Given the description of an element on the screen output the (x, y) to click on. 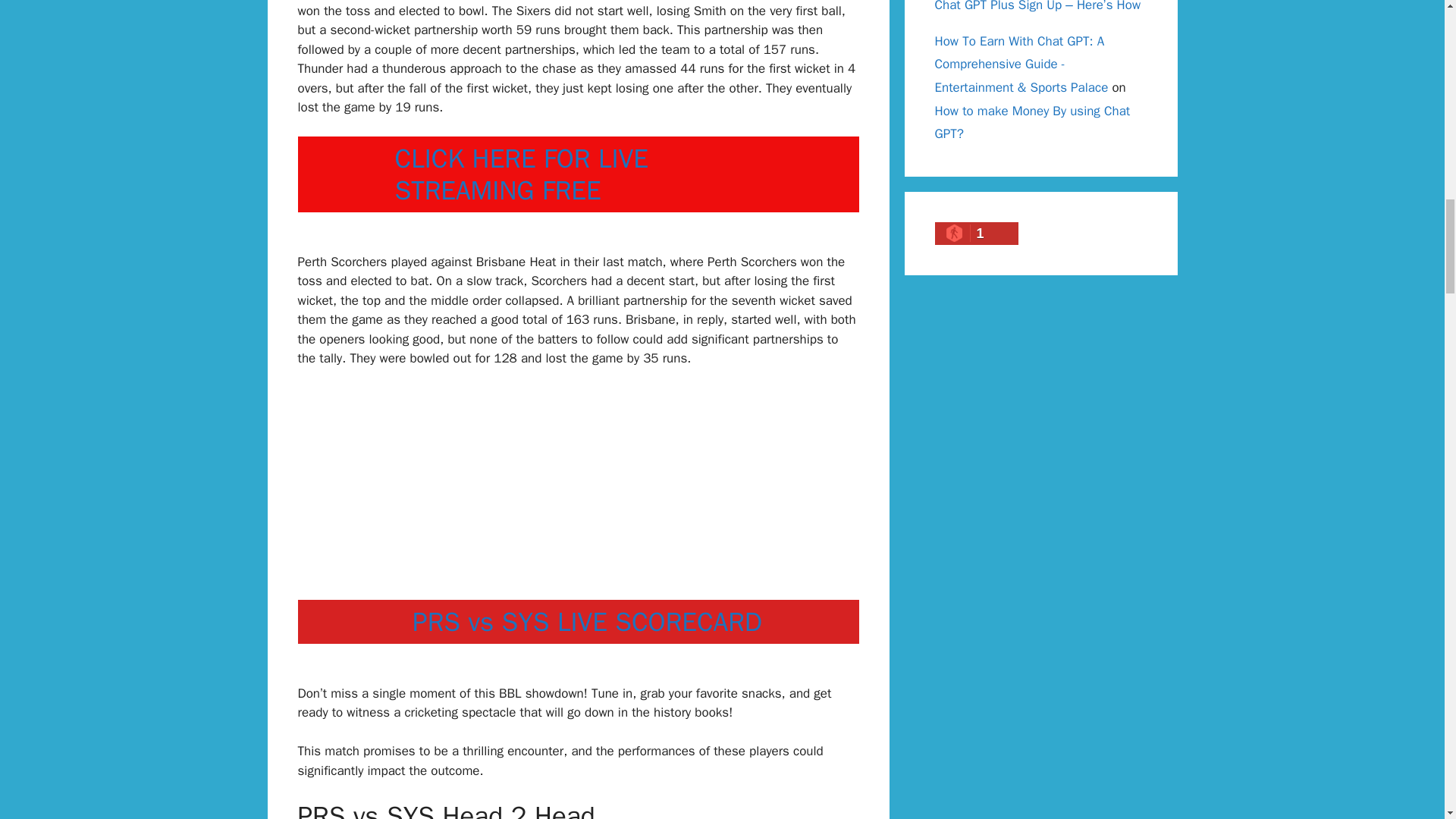
Advertisement (578, 493)
CLICK HERE FOR LIVE STREAMING FREE (520, 174)
PRS vs SYS LIVE SCORECARD (586, 621)
Click to see what's popular on this site! (975, 232)
